Given the description of an element on the screen output the (x, y) to click on. 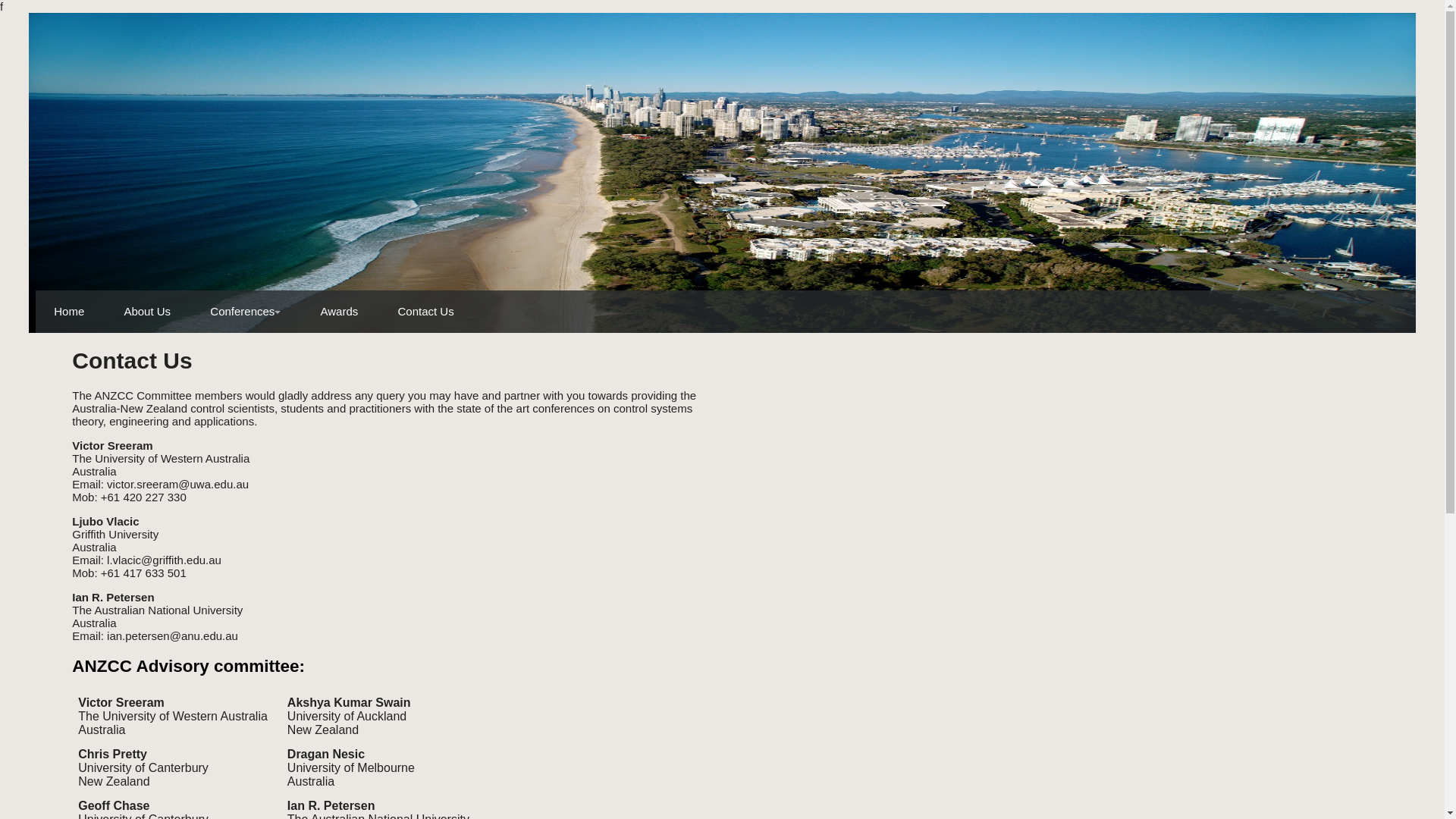
Awards Element type: text (339, 311)
About Us Element type: text (146, 311)
Conferences Element type: text (244, 311)
Contact Us Element type: text (425, 311)
Home Element type: text (68, 311)
